Given the description of an element on the screen output the (x, y) to click on. 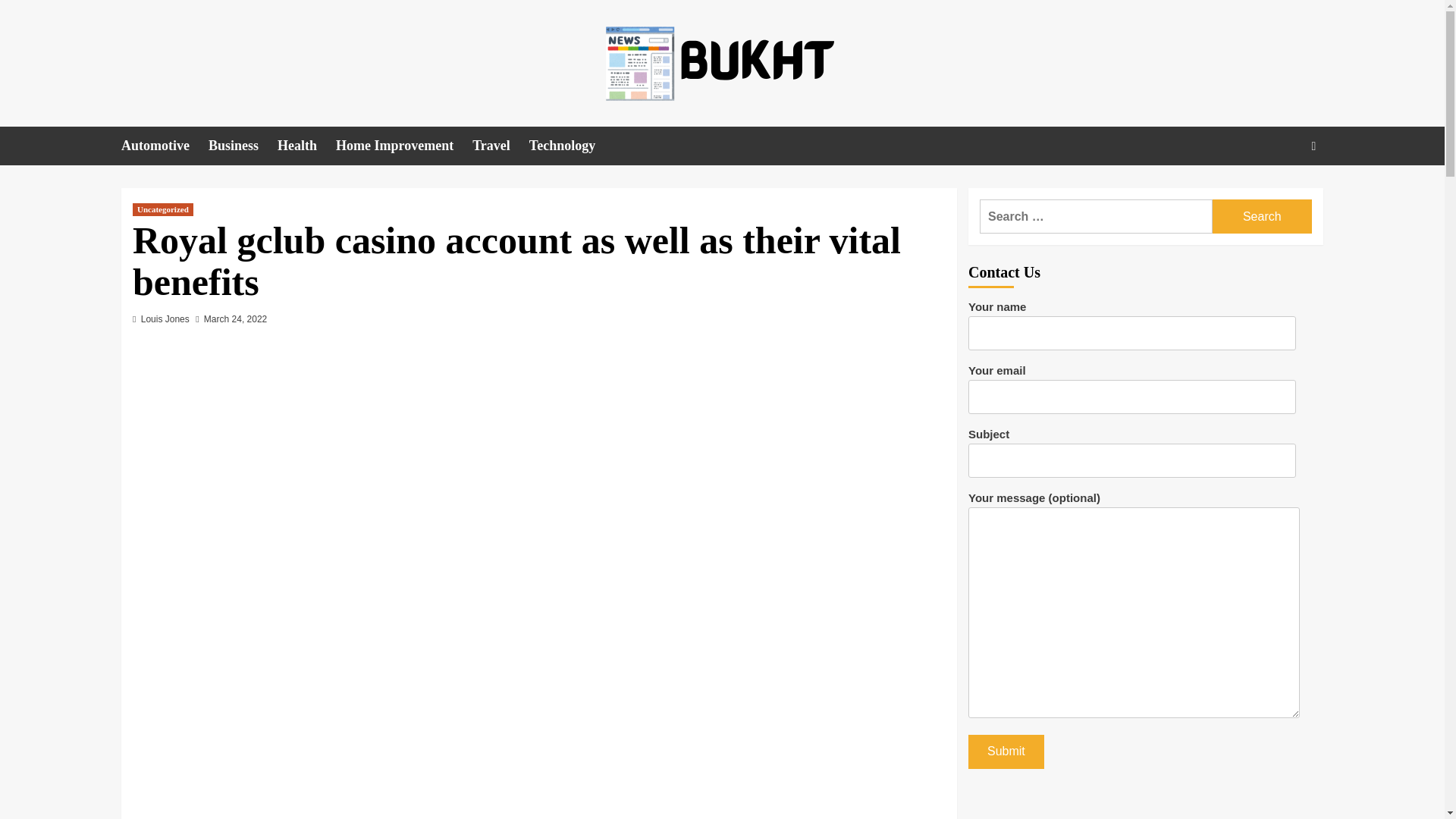
Submit (1005, 751)
Search (1261, 216)
Search (1261, 216)
Travel (500, 145)
Automotive (164, 145)
Health (307, 145)
Home Improvement (403, 145)
Search (1261, 216)
Submit (1005, 751)
Business (243, 145)
Uncategorized (162, 209)
March 24, 2022 (234, 318)
Louis Jones (165, 318)
Technology (571, 145)
Search (1278, 192)
